Given the description of an element on the screen output the (x, y) to click on. 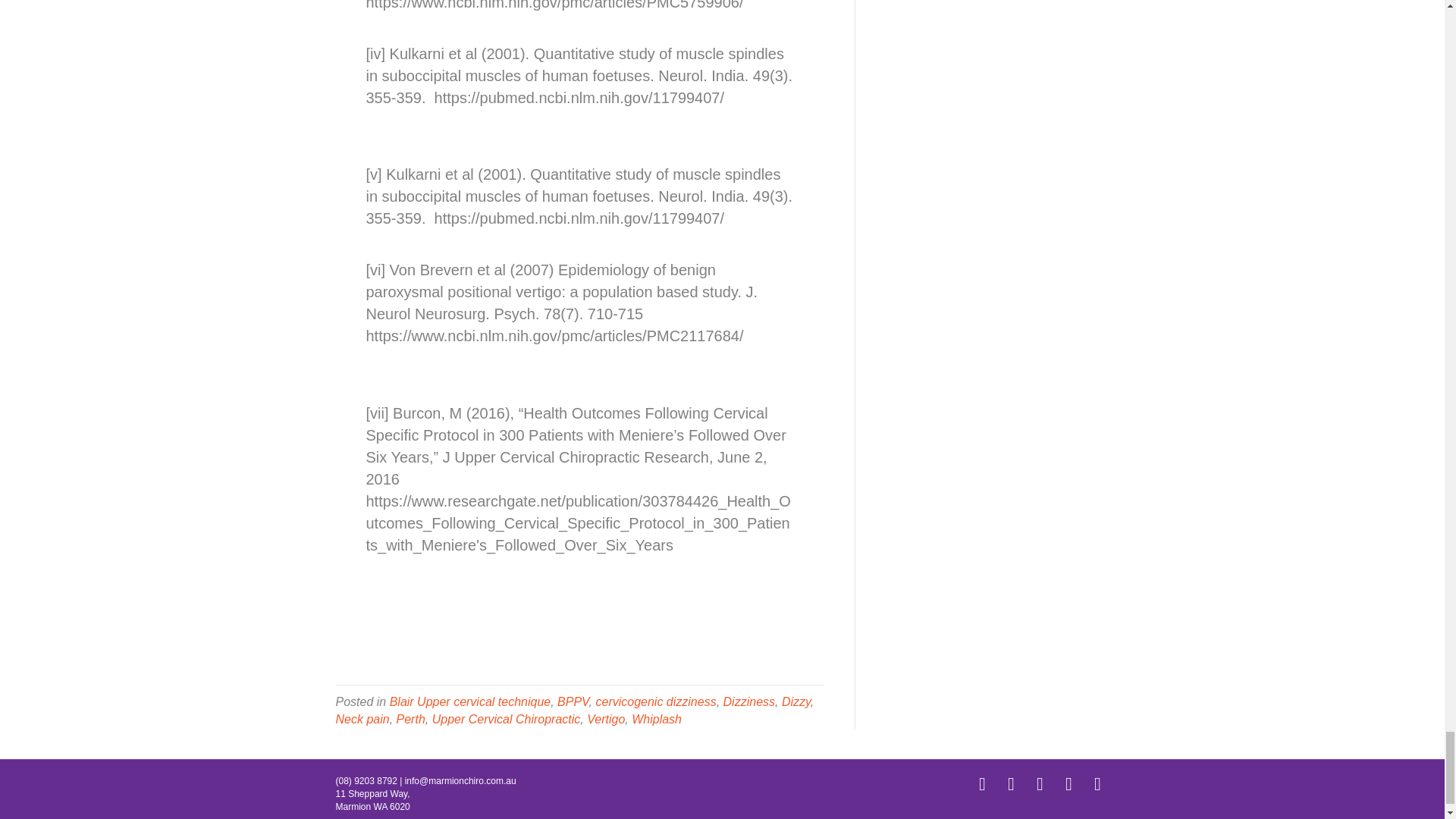
Perth (410, 718)
Vertigo (605, 718)
Dizzy (795, 701)
cervicogenic dizziness (655, 701)
Whiplash (656, 718)
Blair Upper cervical technique (470, 701)
Upper Cervical Chiropractic (506, 718)
Neck pain (361, 718)
BPPV (573, 701)
Dizziness (748, 701)
